Given the description of an element on the screen output the (x, y) to click on. 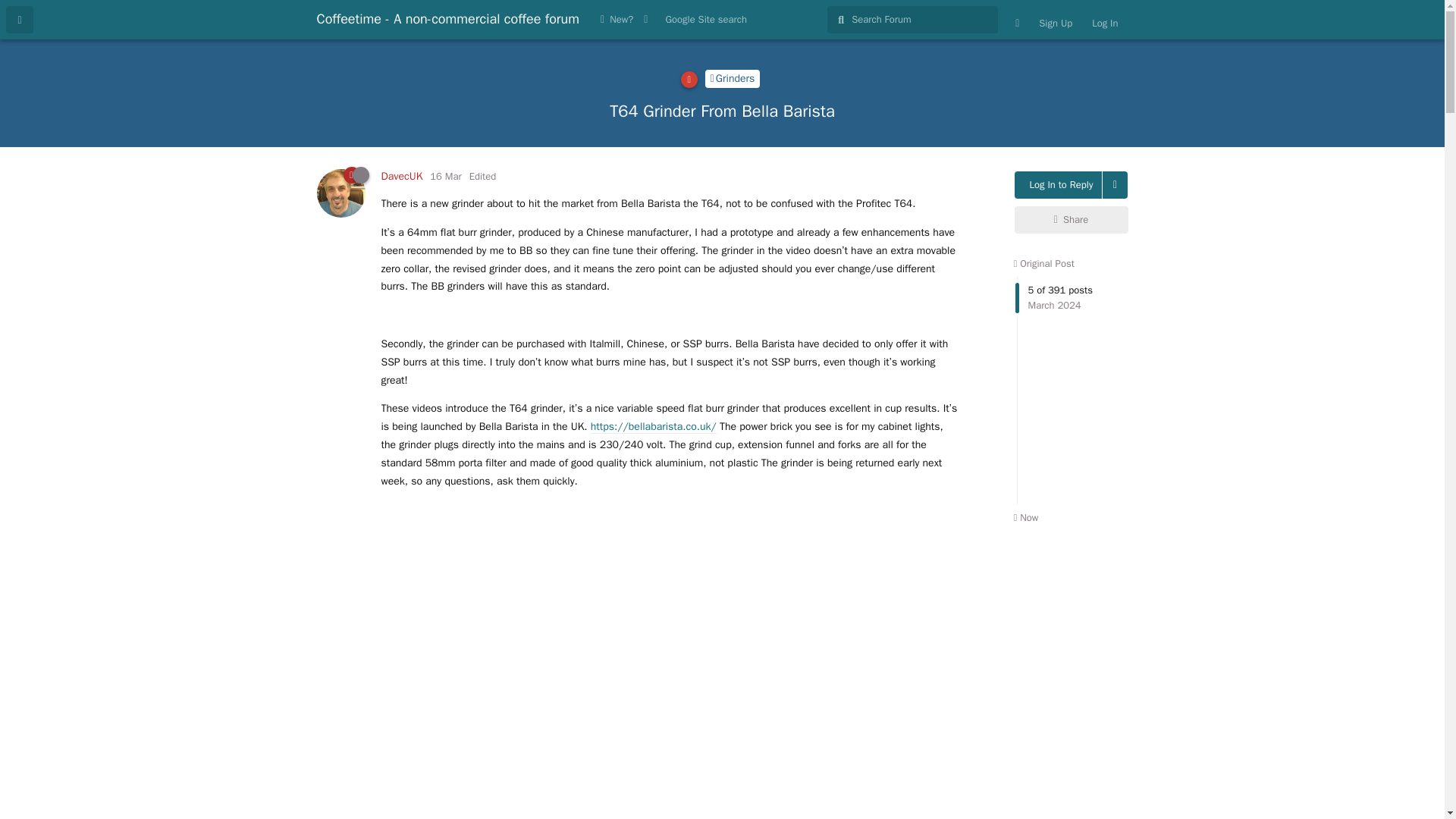
Log In (1103, 22)
16 Mar (445, 175)
Google Site search (705, 19)
New? (617, 19)
Saturday, March 16, 2024 12:45 AM (445, 175)
Grinders (732, 78)
Coffeetime - A non-commercial coffee forum (448, 18)
Log In to Reply (1058, 185)
Original Post (1043, 263)
Sign Up (1055, 22)
